Given the description of an element on the screen output the (x, y) to click on. 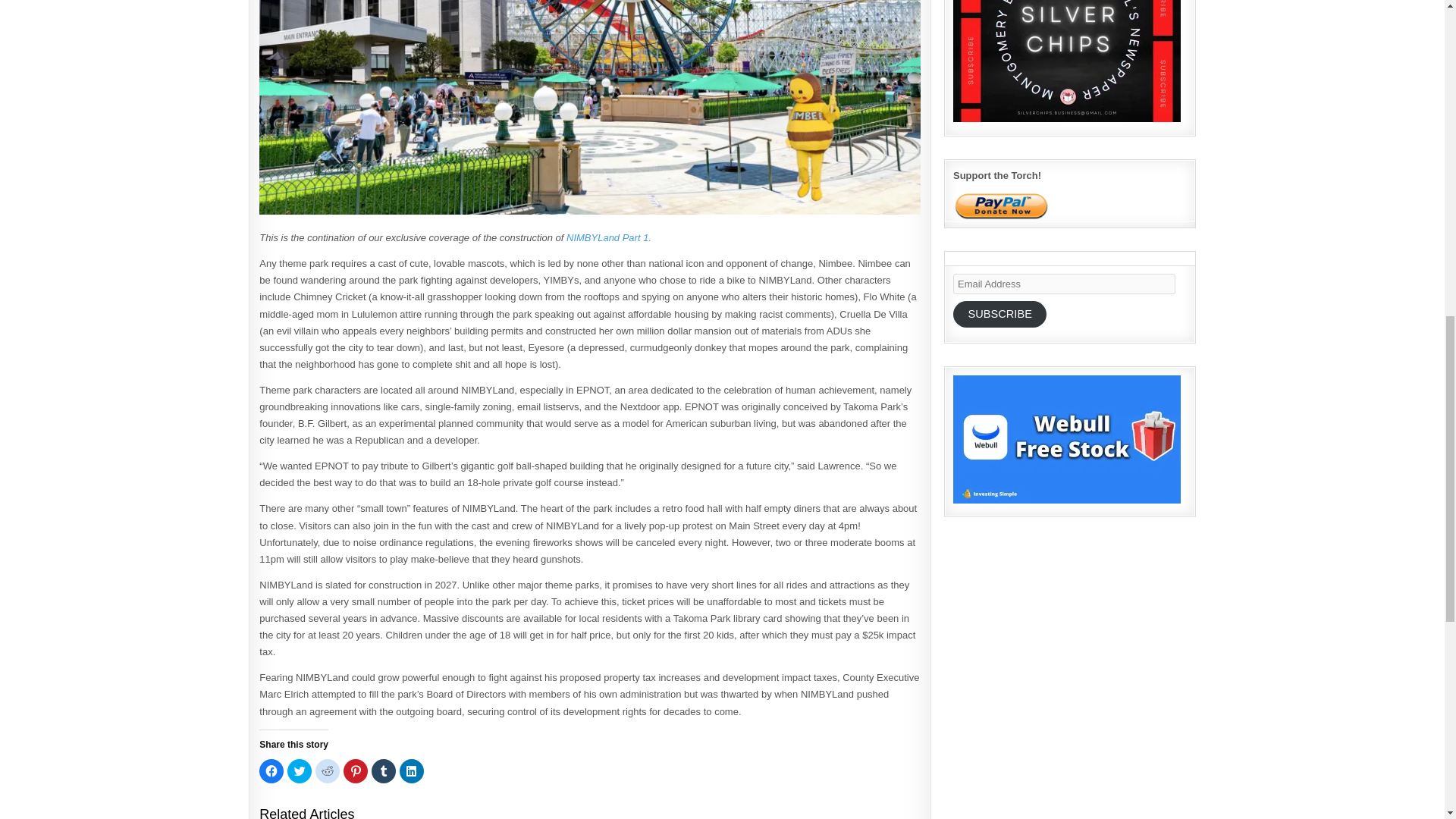
Click to share on Twitter (298, 770)
Click to share on Tumblr (383, 770)
Click to share on Facebook (271, 770)
Click to share on Reddit (327, 770)
Click to share on Pinterest (355, 770)
NIMBYLand Part 1. (608, 237)
Click to share on LinkedIn (410, 770)
